Given the description of an element on the screen output the (x, y) to click on. 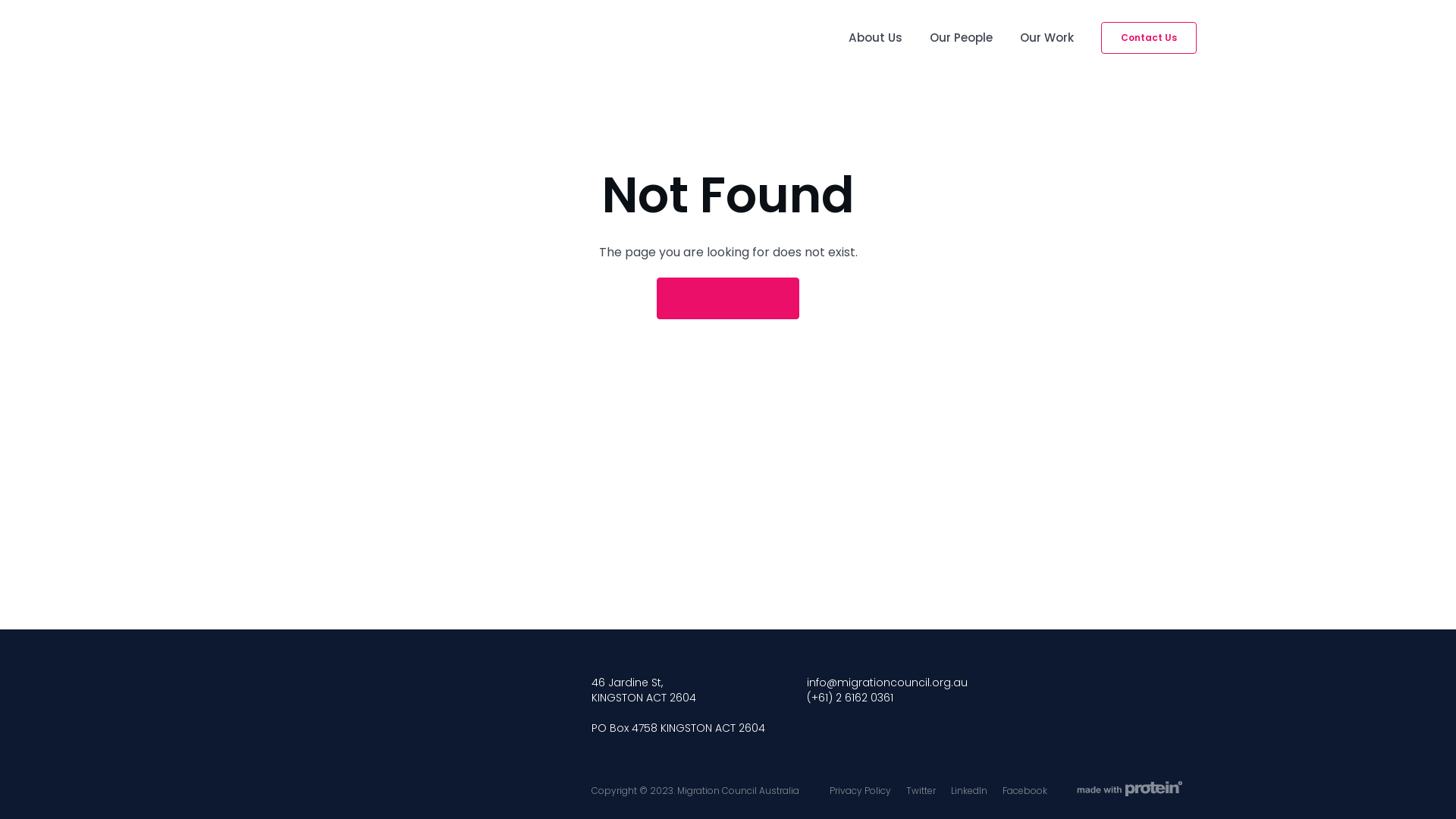
Contact Us Element type: text (1148, 37)
Privacy Policy Element type: text (860, 790)
Facebook Element type: text (1024, 790)
Our Work Element type: text (1046, 38)
About Us Element type: text (875, 38)
Twitter Element type: text (920, 790)
info@migrationcouncil.org.au Element type: text (886, 682)
Migration Council Australia Logo Element type: hover (339, 37)
Our People Element type: text (961, 38)
BACK TO HOMEPAGE Element type: text (727, 298)
website design and development Sydney - protein Element type: hover (1129, 788)
LinkedIn Element type: text (968, 790)
